Given the description of an element on the screen output the (x, y) to click on. 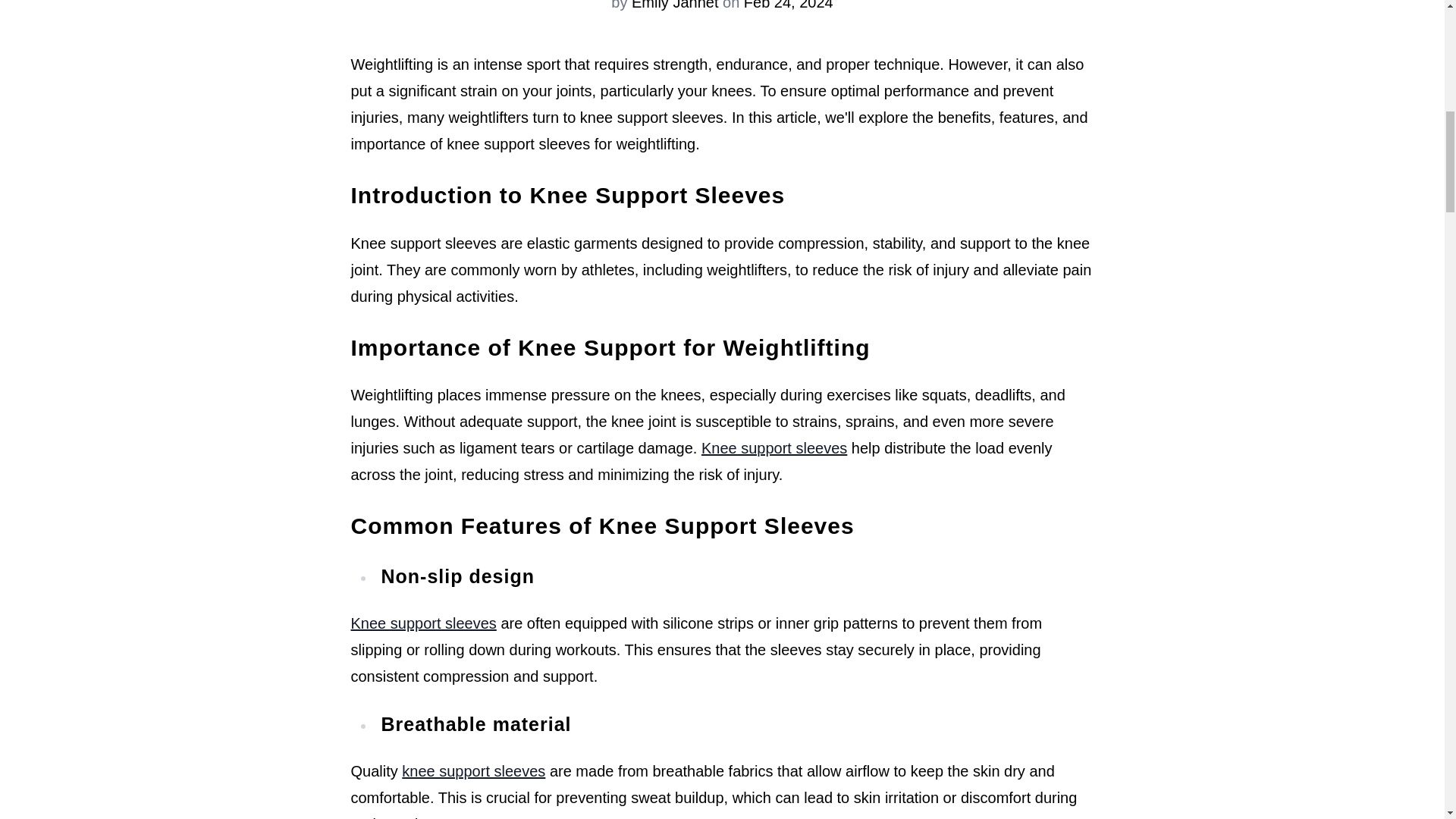
knee support sleeves (472, 770)
Knee support sleeves (774, 447)
Knee support sleeves (423, 623)
